Given the description of an element on the screen output the (x, y) to click on. 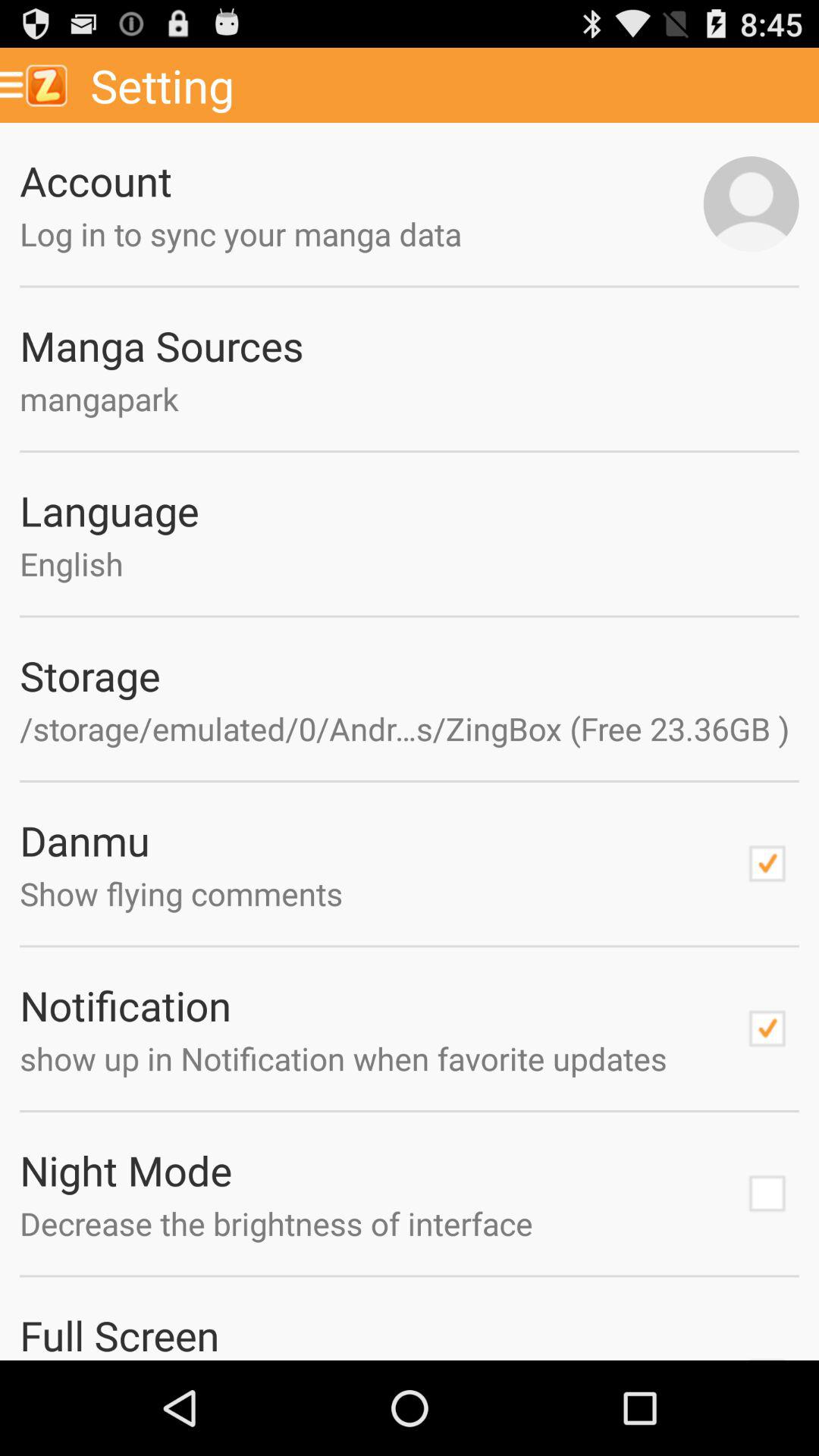
open the app below the storage (409, 728)
